Given the description of an element on the screen output the (x, y) to click on. 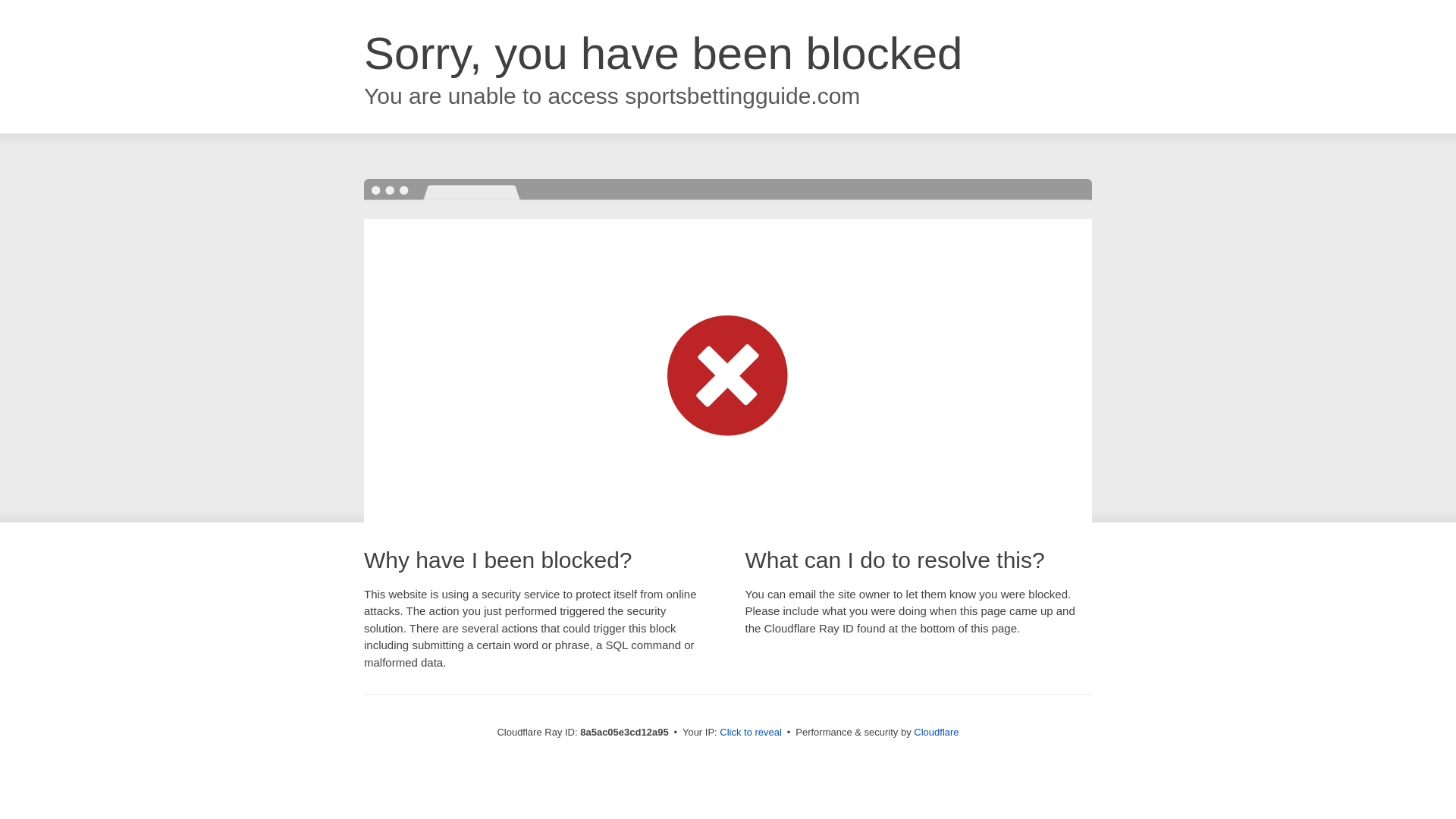
Cloudflare (936, 731)
Click to reveal (750, 732)
